Given the description of an element on the screen output the (x, y) to click on. 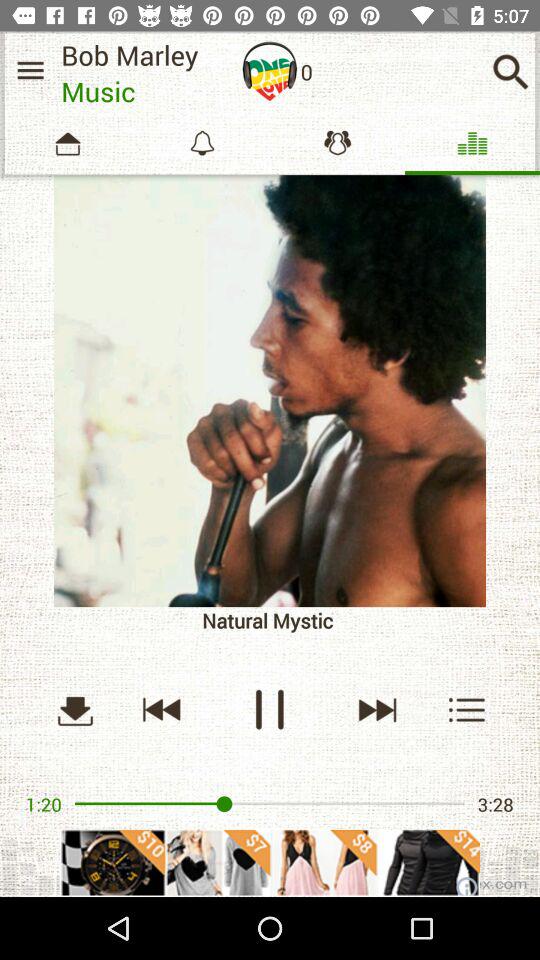
play forward (376, 709)
